Given the description of an element on the screen output the (x, y) to click on. 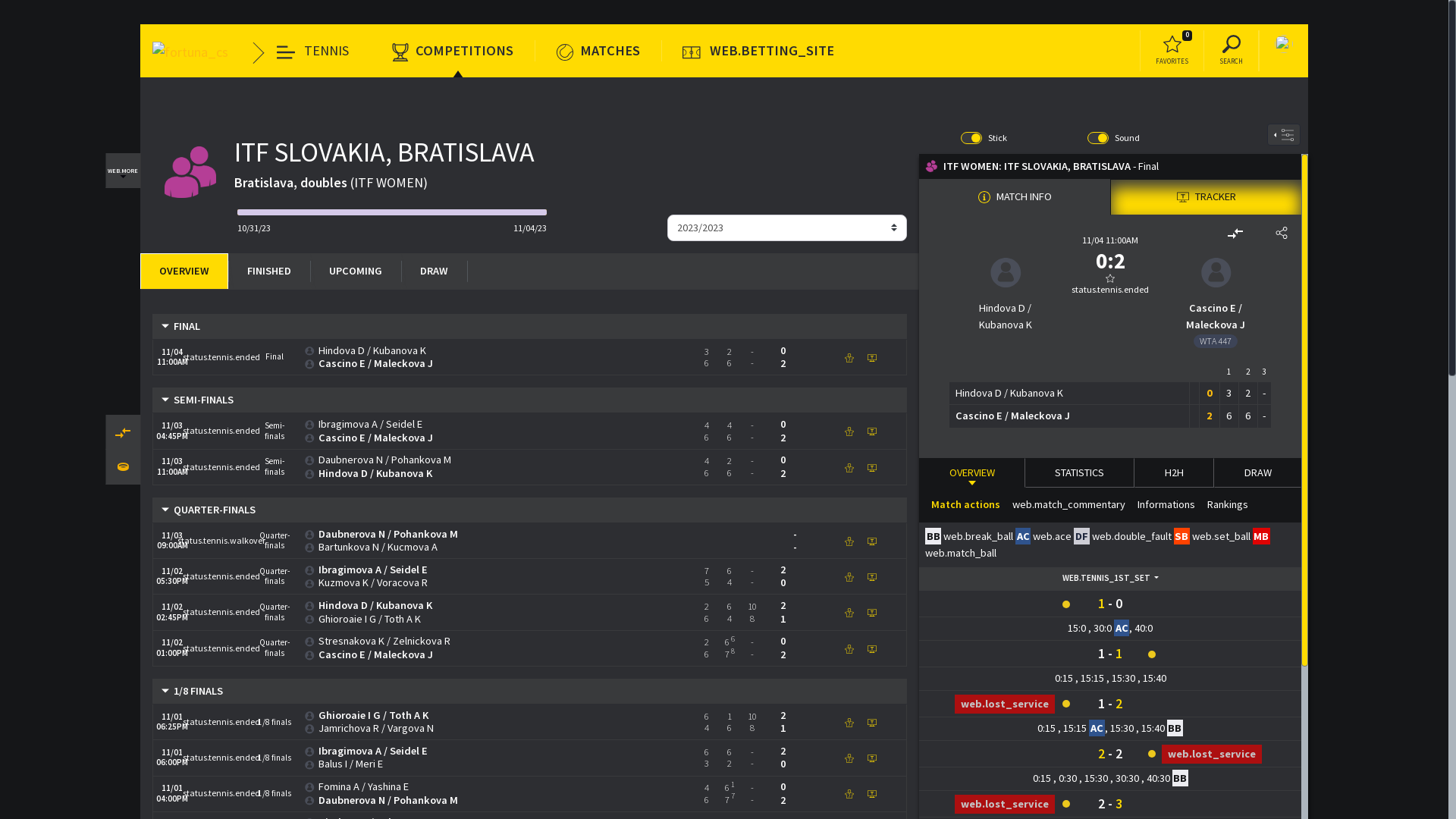
WEB.BETTING_SITE Element type: text (762, 50)
Live betting Element type: text (524, 376)
WEB.MORE Element type: text (126, 170)
COMPETITIONS Element type: text (456, 50)
Contact us Element type: text (658, 376)
TENNIS Element type: text (316, 50)
SEARCH Element type: text (1234, 50)
Conditions Element type: text (731, 376)
Lottery Element type: text (593, 376)
FAVORITES
0 Element type: text (1175, 50)
compare_arrows Element type: text (126, 431)
Venues Element type: text (796, 376)
MATCHES Element type: text (601, 50)
